Given the description of an element on the screen output the (x, y) to click on. 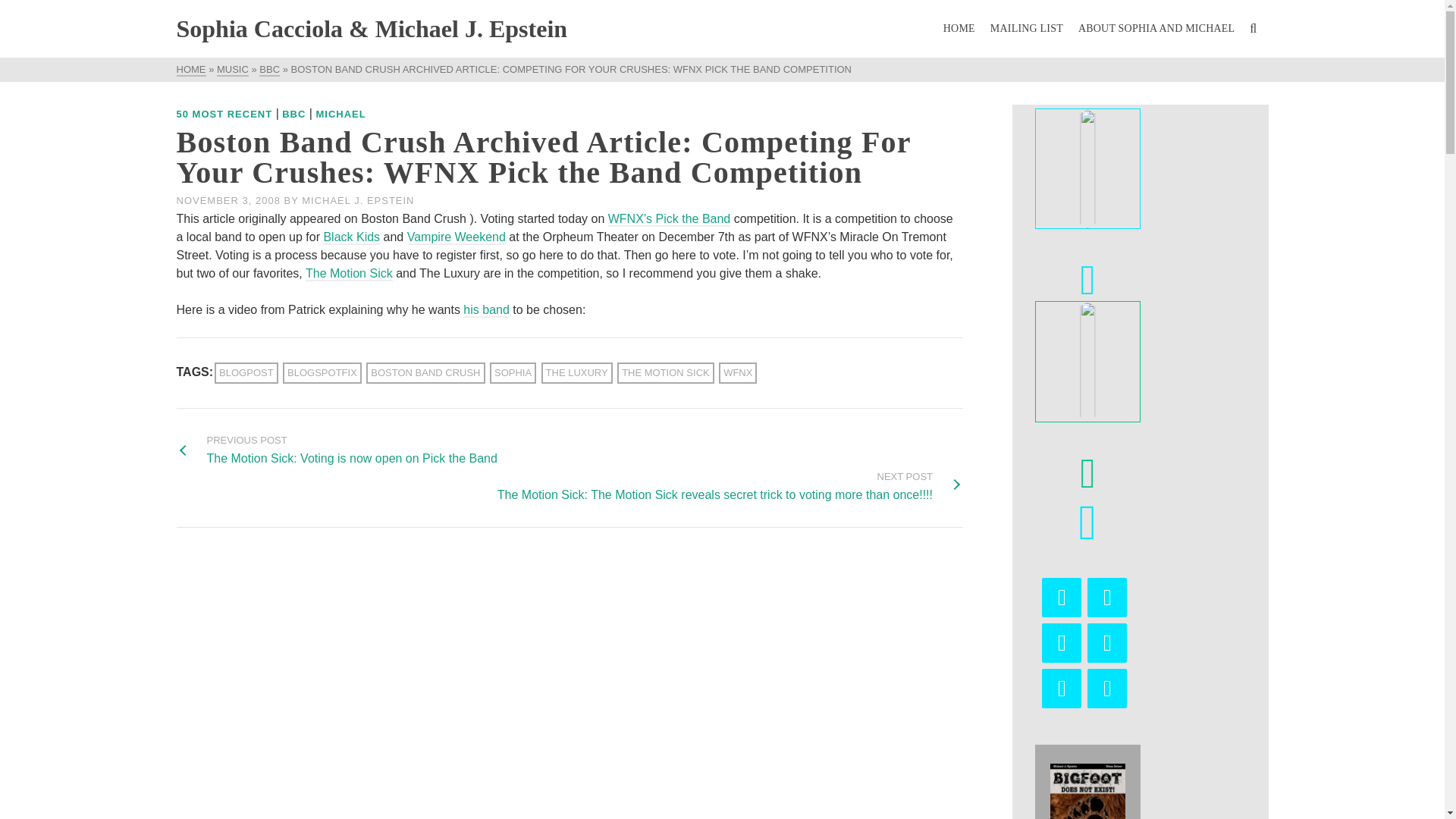
Twitter (1061, 642)
BBC (293, 113)
Black Kids (351, 237)
BBC (269, 69)
his band (486, 310)
50 MOST RECENT (224, 113)
WFNX (738, 373)
Facebook (1106, 597)
Vampire Weekend (456, 237)
